Given the description of an element on the screen output the (x, y) to click on. 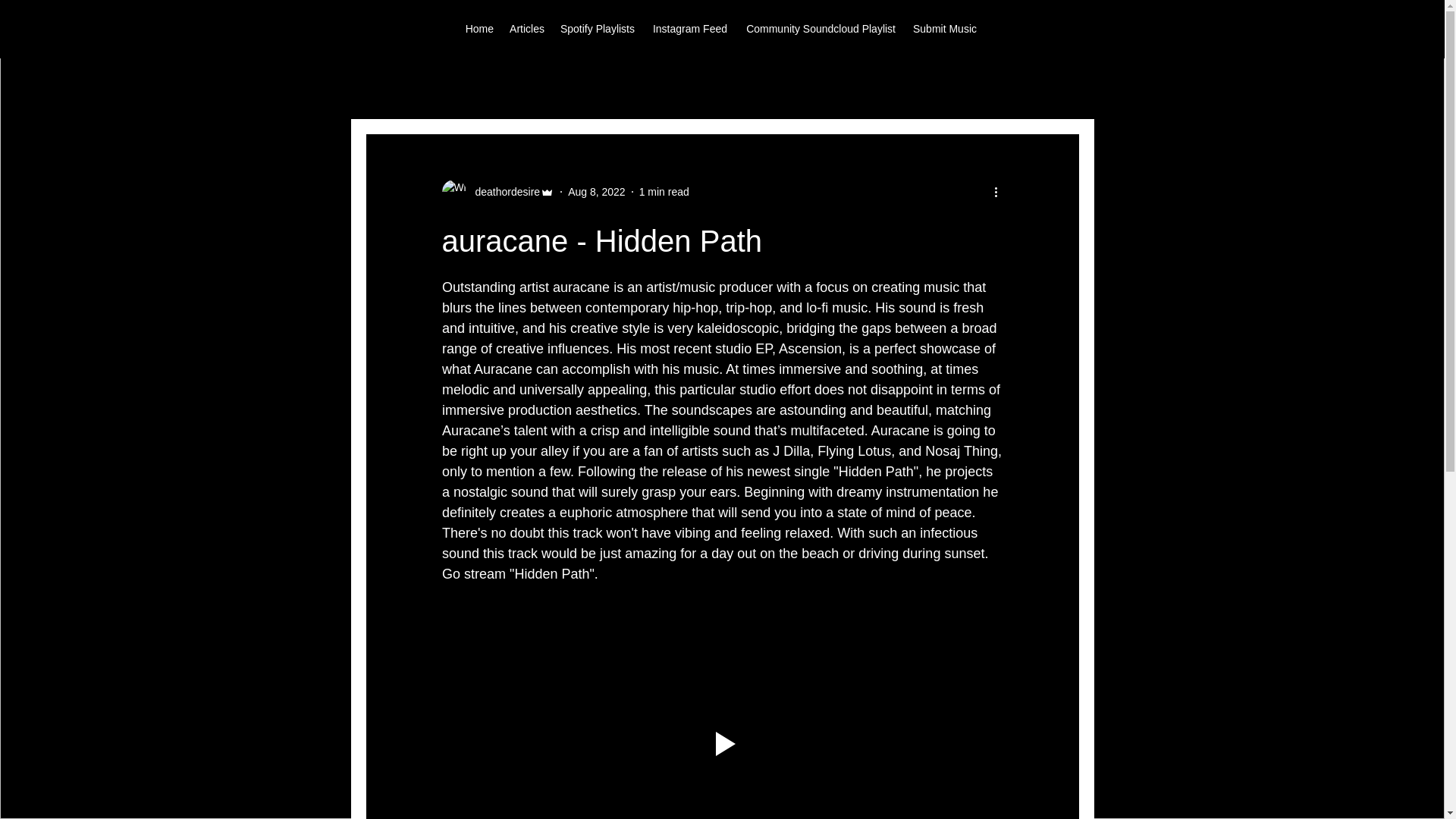
Home (478, 28)
deathordesire (502, 191)
Submit Music (943, 28)
Spotify Playlists (596, 28)
Instagram Feed (688, 28)
Articles (525, 28)
All Posts (390, 88)
Aug 8, 2022 (596, 191)
1 min read (663, 191)
deathordesire (497, 191)
